Given the description of an element on the screen output the (x, y) to click on. 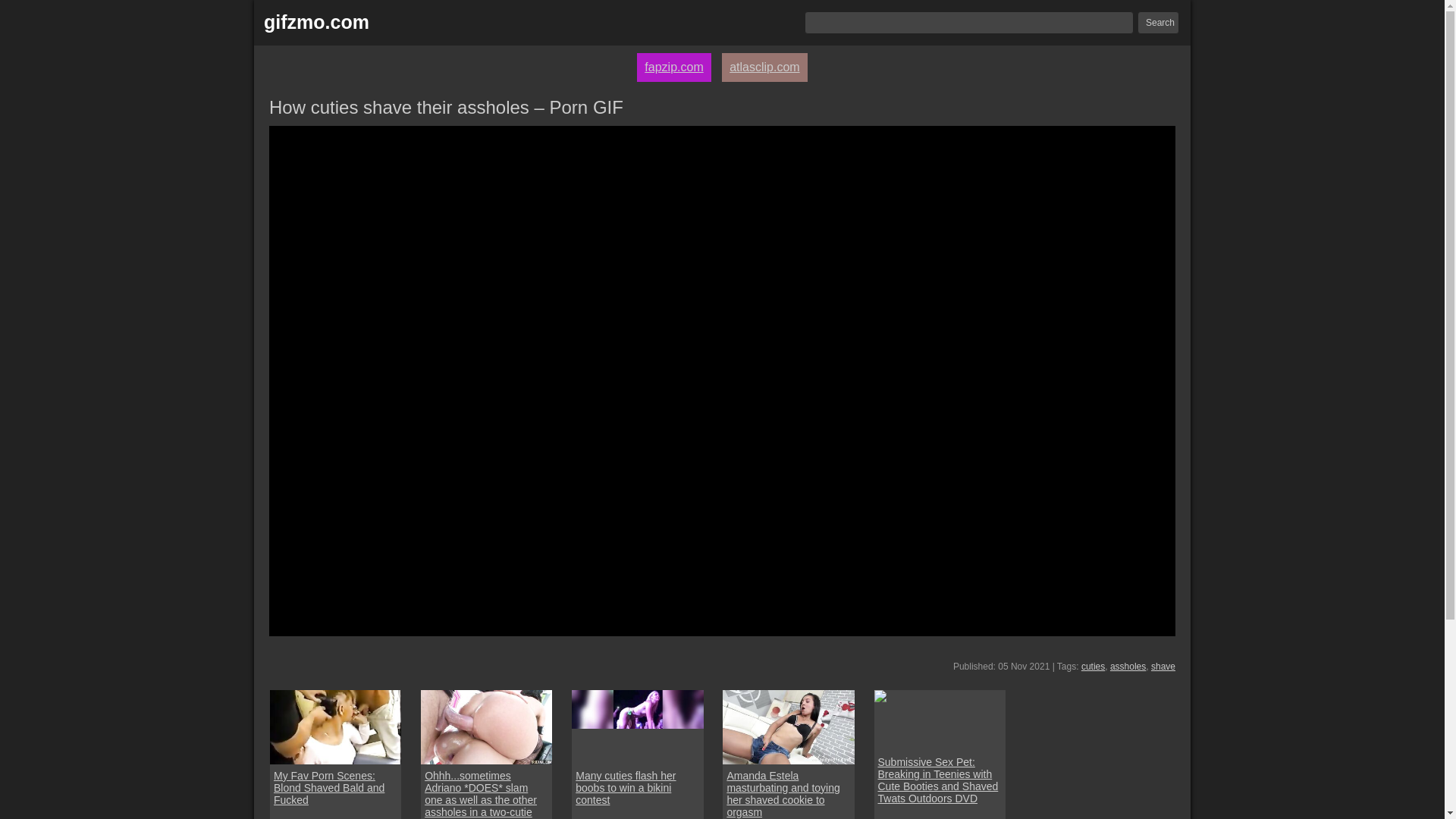
assholes (1127, 665)
atlasclip.com (764, 67)
gifzmo.com (316, 22)
My Fav Porn Scenes: Blond Shaved Bald and Fucked (335, 787)
atlasclip.com (764, 67)
Search (1158, 22)
My Fav Porn Scenes: Blond Shaved Bald and Fucked (335, 787)
Many cuties flash her boobs to win a bikini contest (637, 726)
shave (1162, 665)
My Fav Porn Scenes: Blond Shaved Bald and Fucked (335, 726)
Many cuties flash her boobs to win a bikini contest (636, 787)
